Given the description of an element on the screen output the (x, y) to click on. 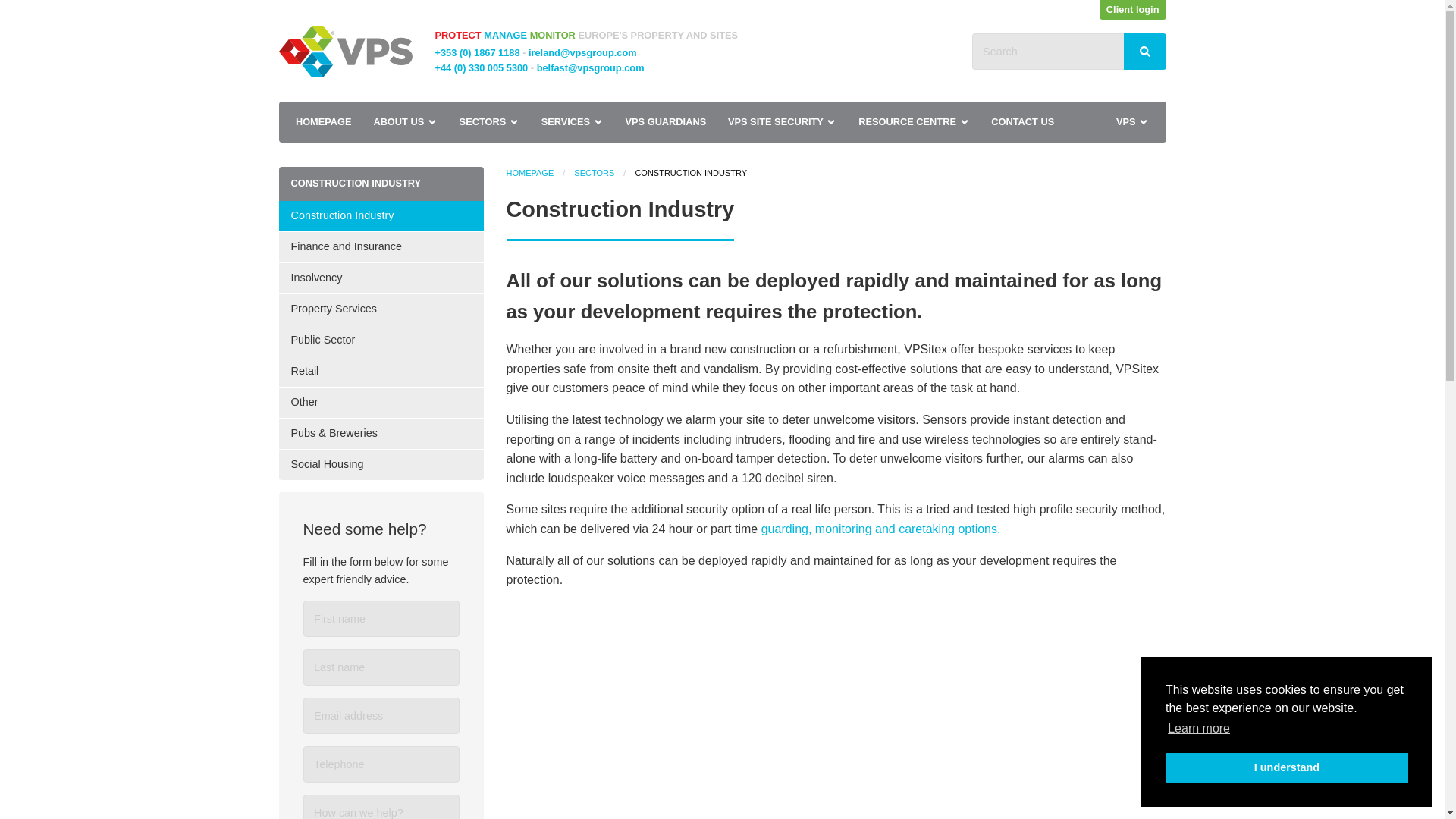
HOMEPAGE (323, 121)
Learn more (1198, 728)
SECTORS (488, 121)
SERVICES (571, 121)
VPS SITE SECURITY (782, 121)
ABOUT US (405, 121)
Client login (1132, 9)
CONTACT US (1022, 121)
VPS GUARDIANS (665, 121)
I understand (1286, 767)
RESOURCE CENTRE (913, 121)
